Given the description of an element on the screen output the (x, y) to click on. 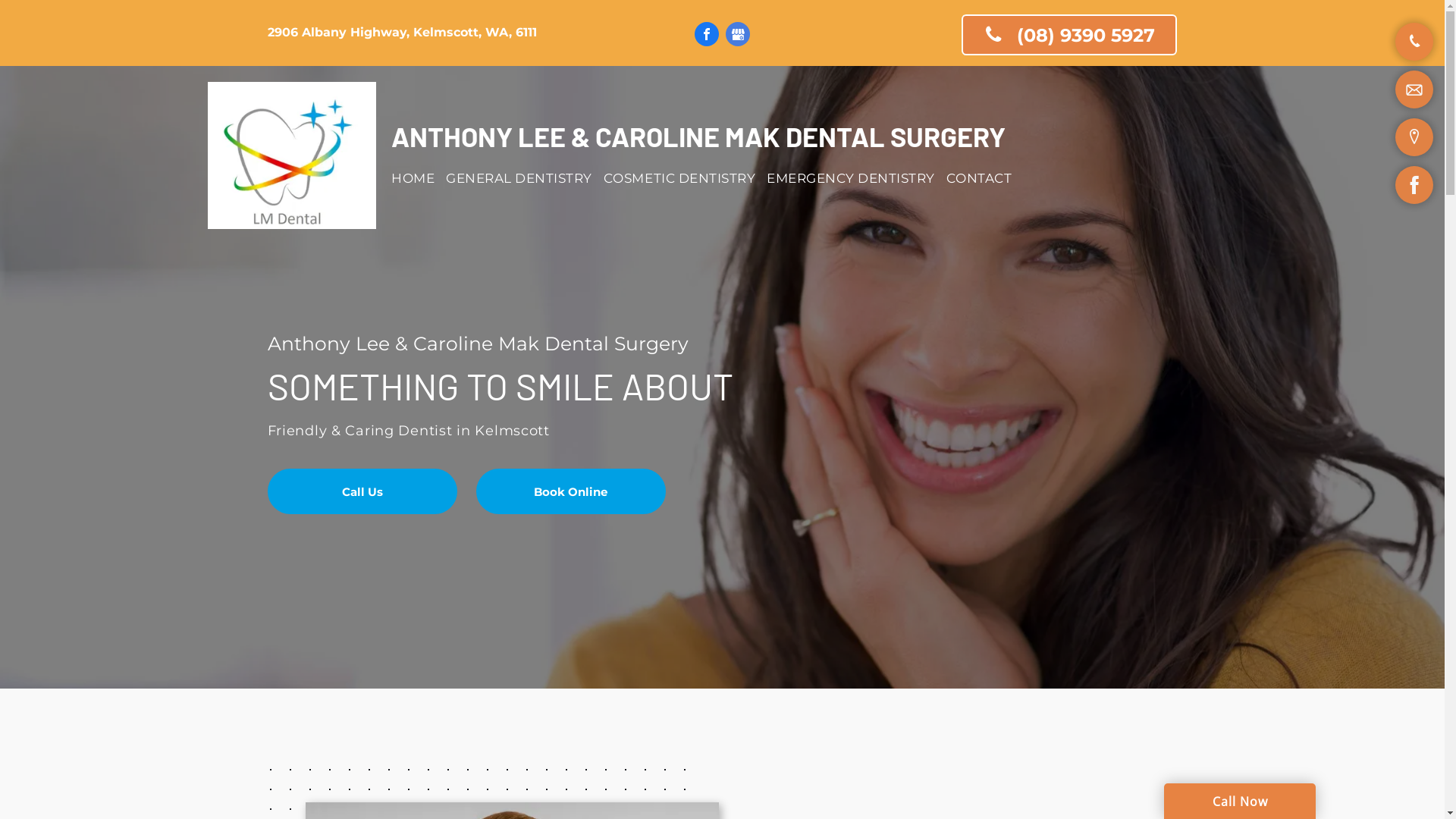
Call Us Element type: text (361, 491)
Lee & Mak Dental Surgery Element type: hover (291, 155)
2906 Albany Highway, Kelmscott, WA, 6111 Element type: text (401, 32)
Book Online Element type: text (570, 491)
COSMETIC DENTISTRY Element type: text (684, 178)
GENERAL DENTISTRY Element type: text (524, 178)
HOME Element type: text (418, 178)
EMERGENCY DENTISTRY Element type: text (856, 178)
CONTACT Element type: text (984, 178)
(08) 9390 5927 Element type: text (1068, 34)
